Given the description of an element on the screen output the (x, y) to click on. 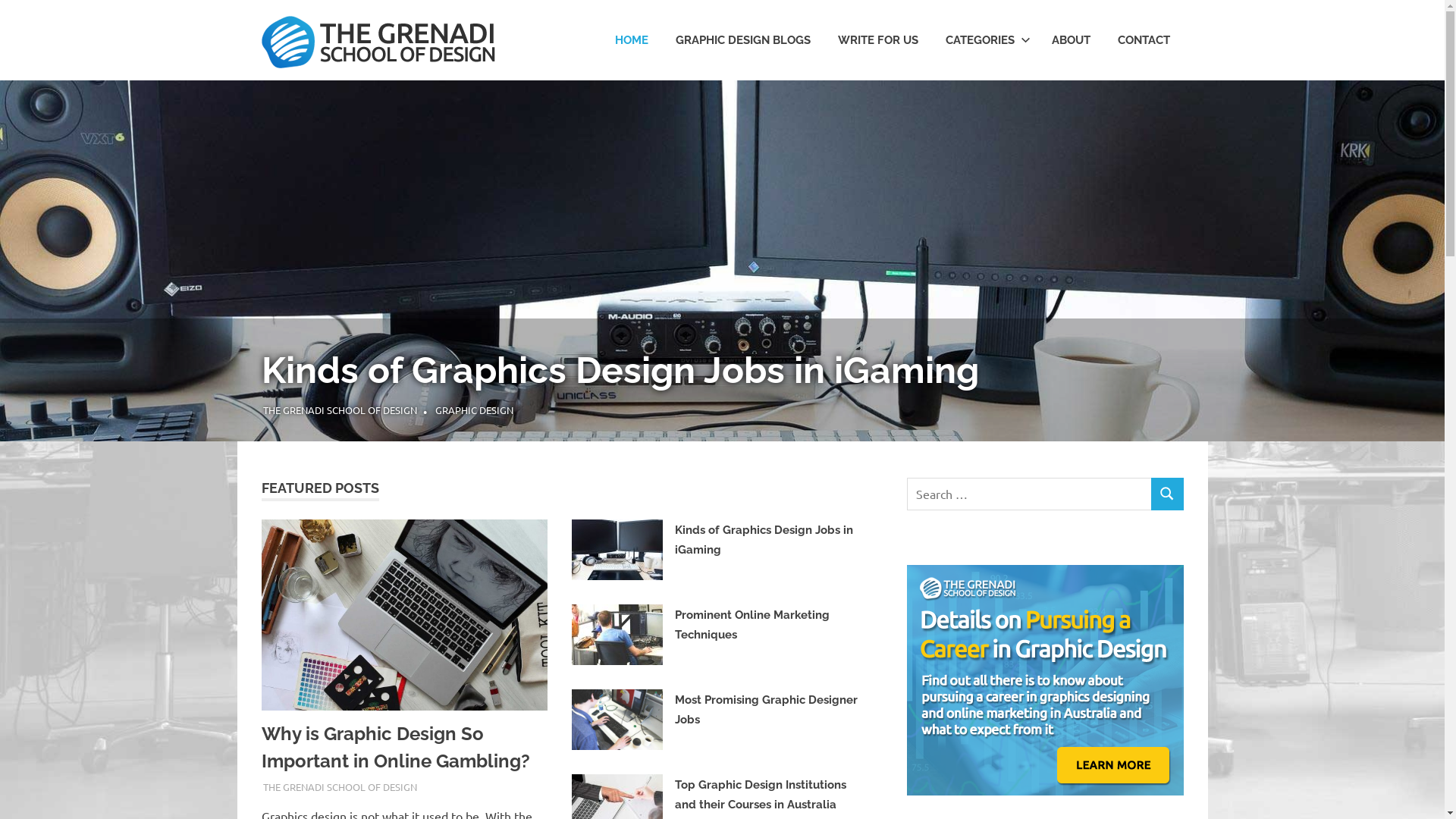
Kinds of Graphics Design Jobs in iGaming Element type: text (763, 539)
Why is Graphic Design So Important in Online Gambling? Element type: text (394, 746)
ABOUT Element type: text (1070, 40)
Next Element type: text (1413, 245)
GRAPHIC DESIGN BLOGS Element type: text (742, 40)
GRAPHIC DESIGN Element type: text (1087, 409)
SEARCH Element type: text (1167, 493)
WRITE FOR US Element type: text (877, 40)
21 JULY 2022 Element type: text (702, 739)
THE GRENADI SCHOOL OF DESIGN Element type: text (1027, 409)
6 OCTOBER 2022 Element type: text (710, 569)
Prominent Online Marketing Techniques Element type: text (751, 624)
Previous Element type: text (30, 245)
HOME Element type: text (630, 40)
Why is Graphic Design So Important in Online Gambling? Element type: text (493, 342)
CONTACT Element type: text (1143, 40)
THE GRENADI SCHOOL OF DESIGN Element type: text (340, 786)
24 OCTOBER 2022 Element type: text (303, 786)
20 AUGUST 2022 Element type: text (709, 654)
Search for: Element type: hover (1028, 493)
GRAPHIC DESIGN Element type: text (66, 409)
Most Promising Graphic Designer Jobs Element type: text (765, 709)
24 OCTOBER 2022 Element type: text (67, 409)
6 OCTOBER 2022 Element type: text (1068, 409)
CATEGORIES Element type: text (984, 40)
